Given the description of an element on the screen output the (x, y) to click on. 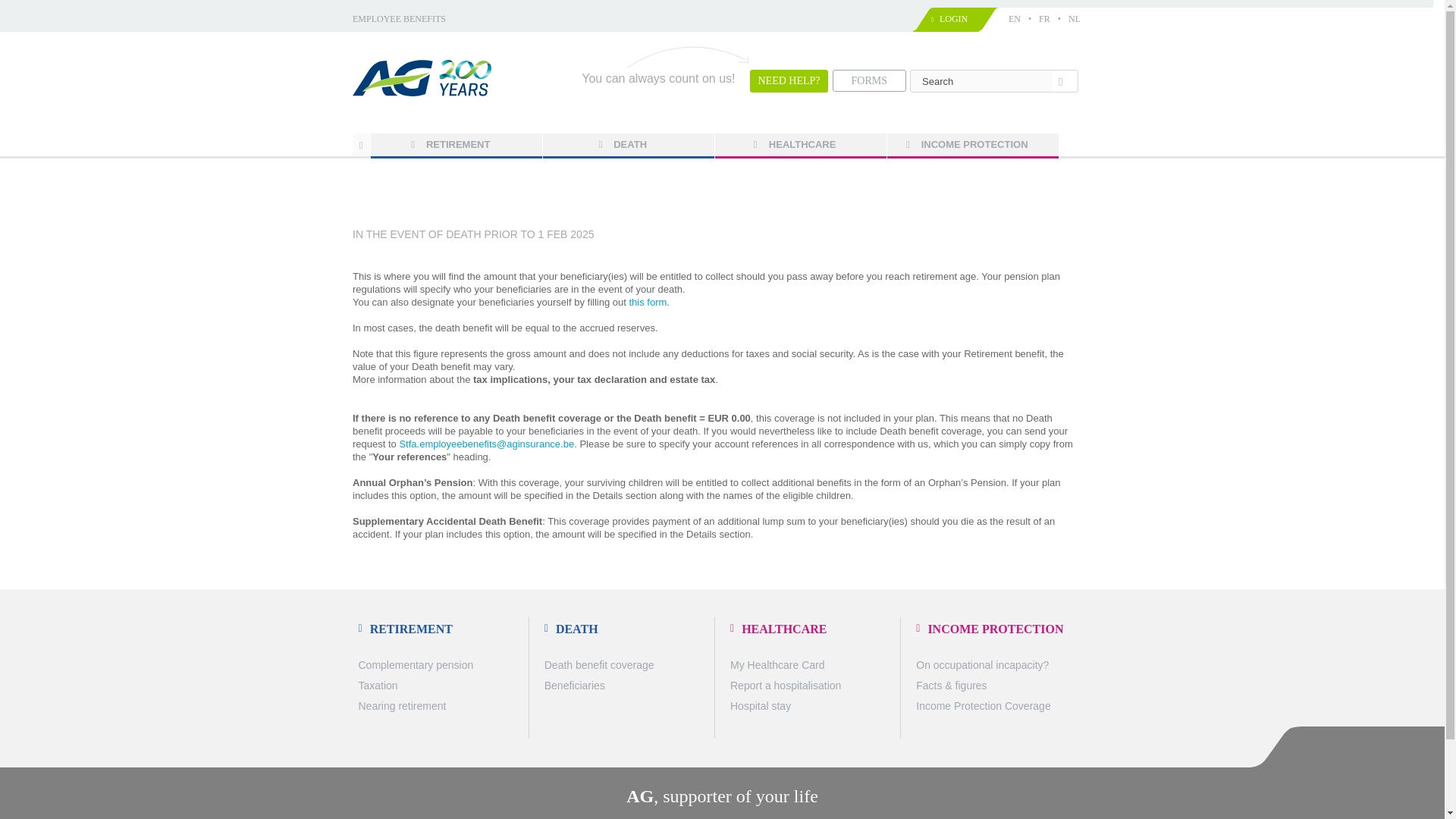
FORMS (869, 80)
My Healthcare Card (777, 665)
LOGIN (953, 18)
HEALTHCARE (800, 144)
Complementary pension (415, 665)
HEALTHCARE (813, 627)
RETIREMENT (441, 627)
Death benefit coverage (598, 665)
Report a hospitalisation (785, 685)
DEATH (627, 627)
